Given the description of an element on the screen output the (x, y) to click on. 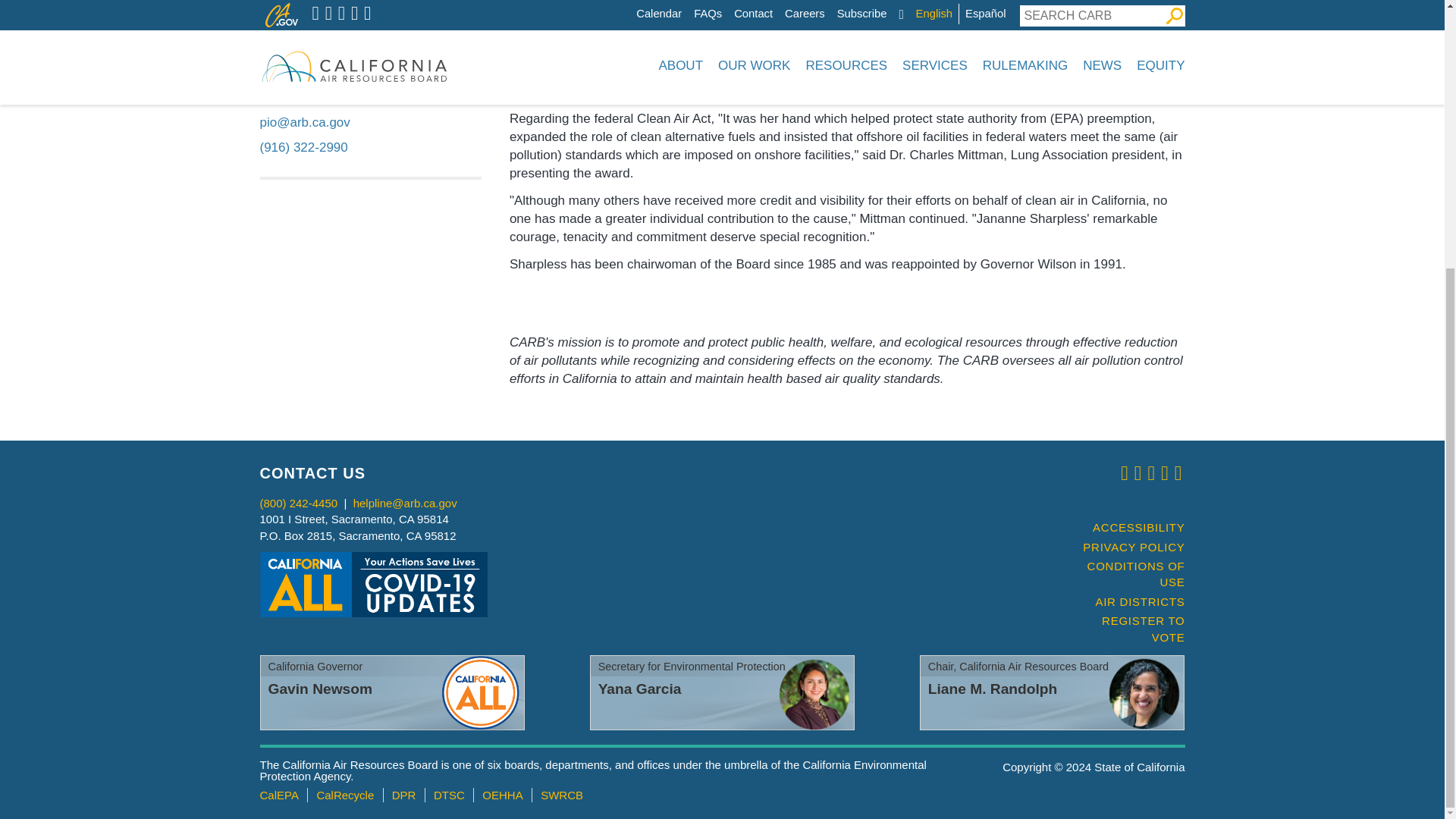
California Environmental Protection Agency (278, 794)
California online voter registration (1127, 628)
